Given the description of an element on the screen output the (x, y) to click on. 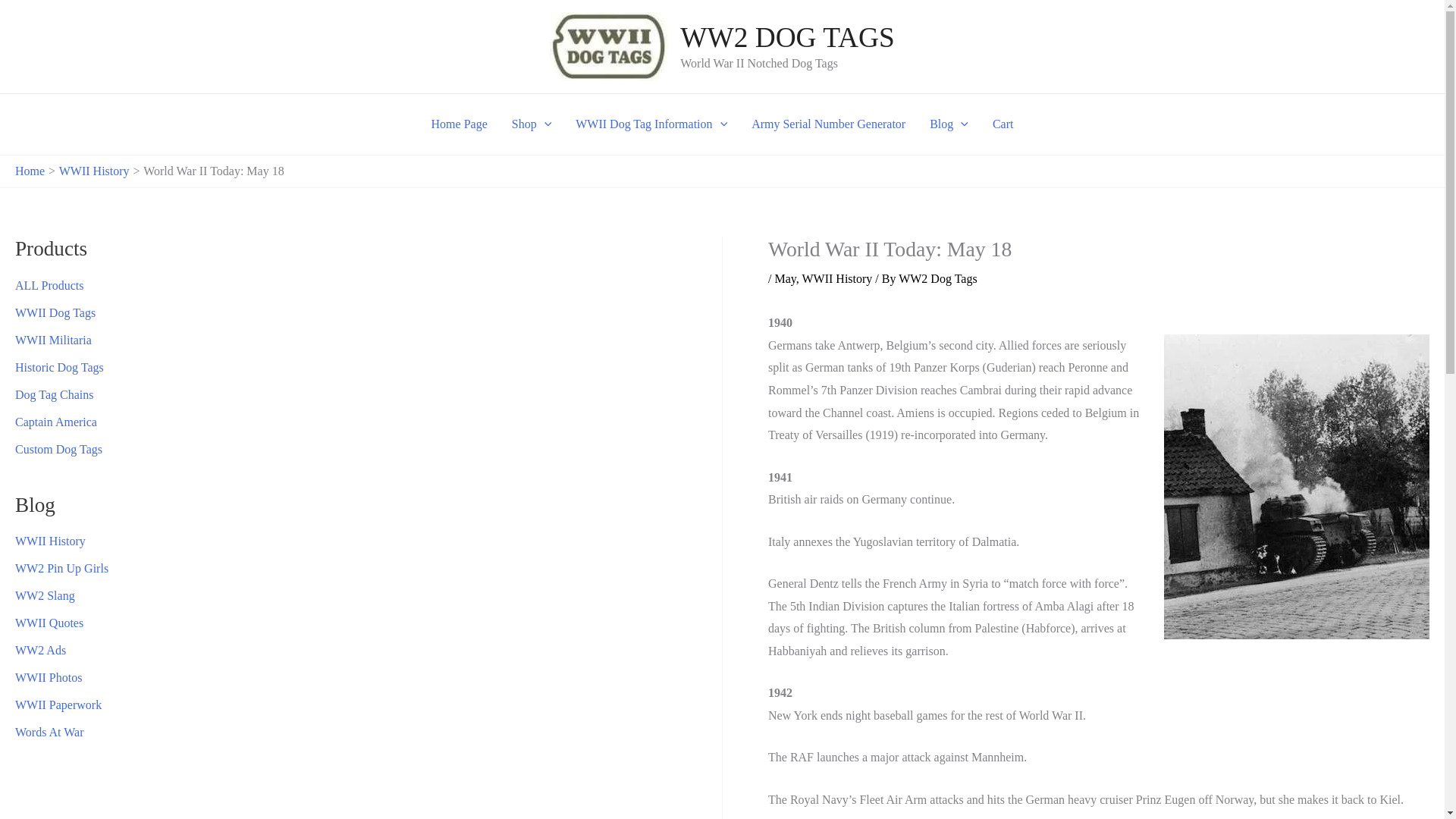
The Words At War Radio Program (48, 731)
Shop (531, 124)
WW2 DOG TAGS (786, 37)
WWII US Army Serial Number Generator (828, 124)
Army Serial Number Generator (828, 124)
Blog (948, 124)
WWII Dog Tag Information (651, 124)
View all posts by WW2 Dog Tags (937, 278)
Home Page (459, 124)
